Given the description of an element on the screen output the (x, y) to click on. 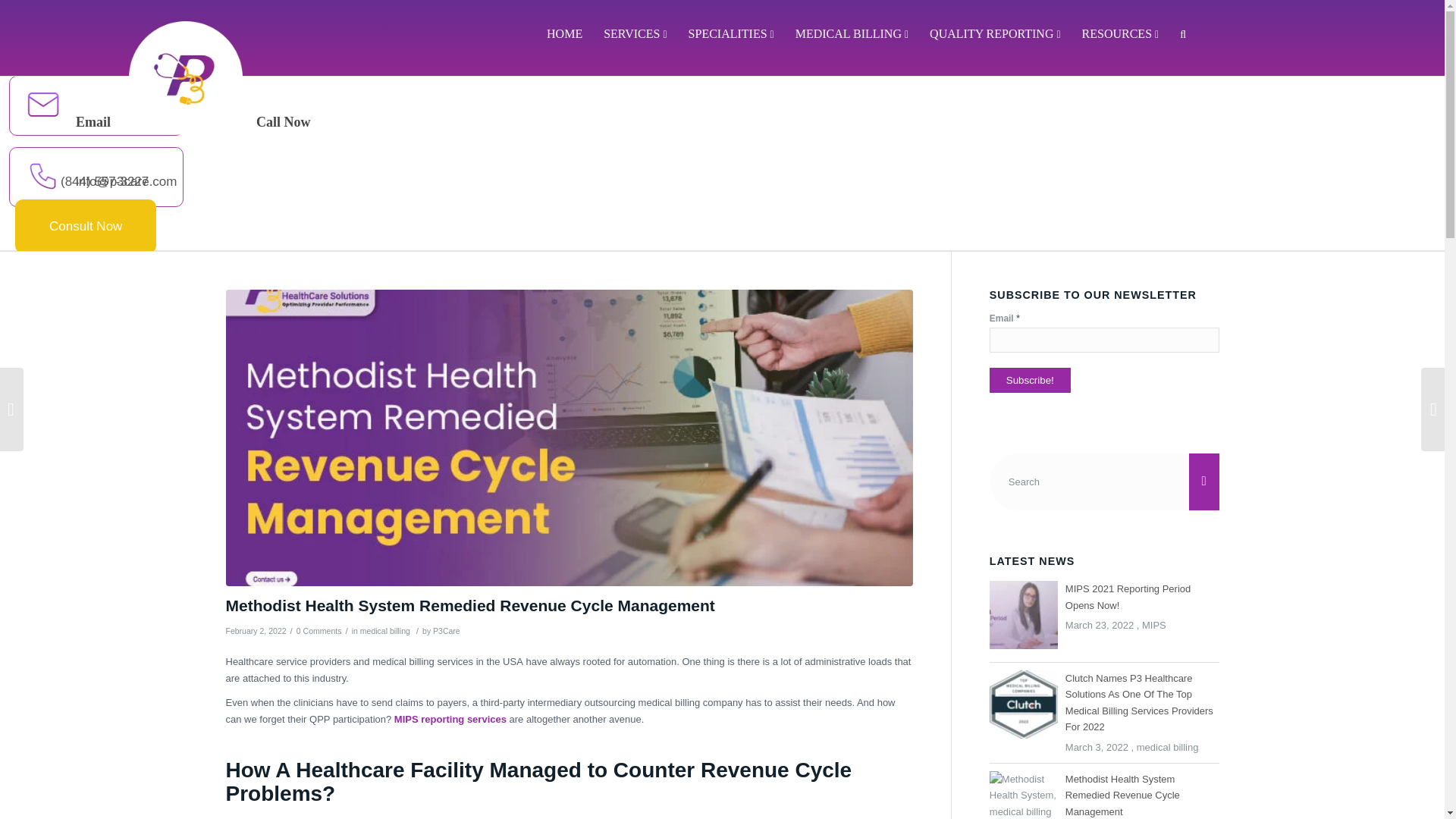
QUALITY REPORTING (994, 33)
HOME (563, 33)
Posts by P3Care (446, 630)
MEDICAL BILLING (851, 33)
SPECIALITIES (731, 33)
Subscribe! (1030, 380)
SERVICES (634, 33)
RESOURCES (1120, 33)
